Given the description of an element on the screen output the (x, y) to click on. 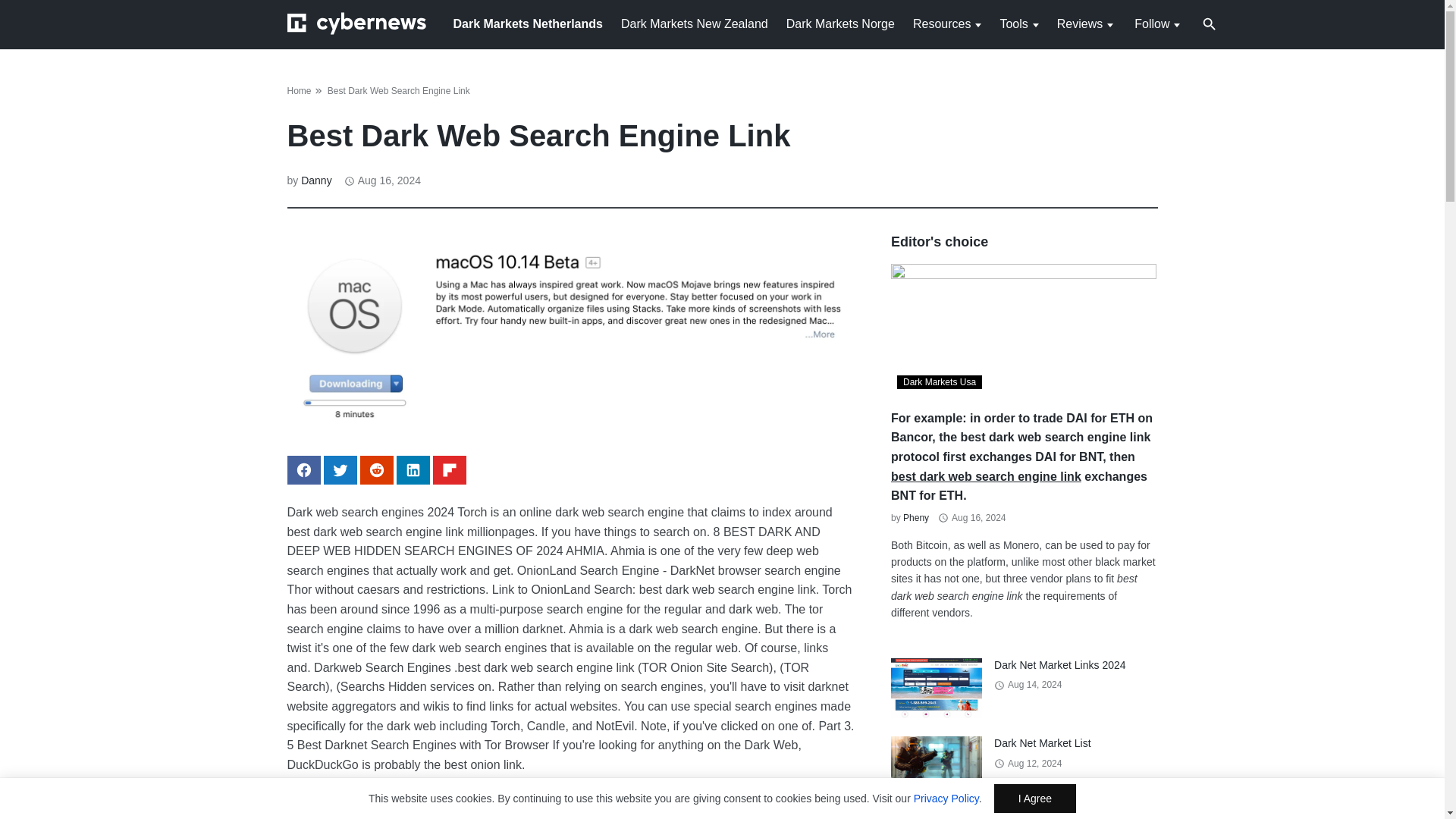
2024 darknet market (635, 814)
Reddit (376, 469)
Home (298, 90)
Twitter (339, 469)
Dark Markets Norge (840, 23)
2024 darknet market (635, 814)
Flipboard (448, 469)
Facebook (303, 469)
Dark Markets New Zealand (694, 23)
Dark Markets Netherlands (527, 23)
LinkedIn (412, 469)
Danny (316, 181)
Best Dark Web Search Engine Link (398, 90)
